Given the description of an element on the screen output the (x, y) to click on. 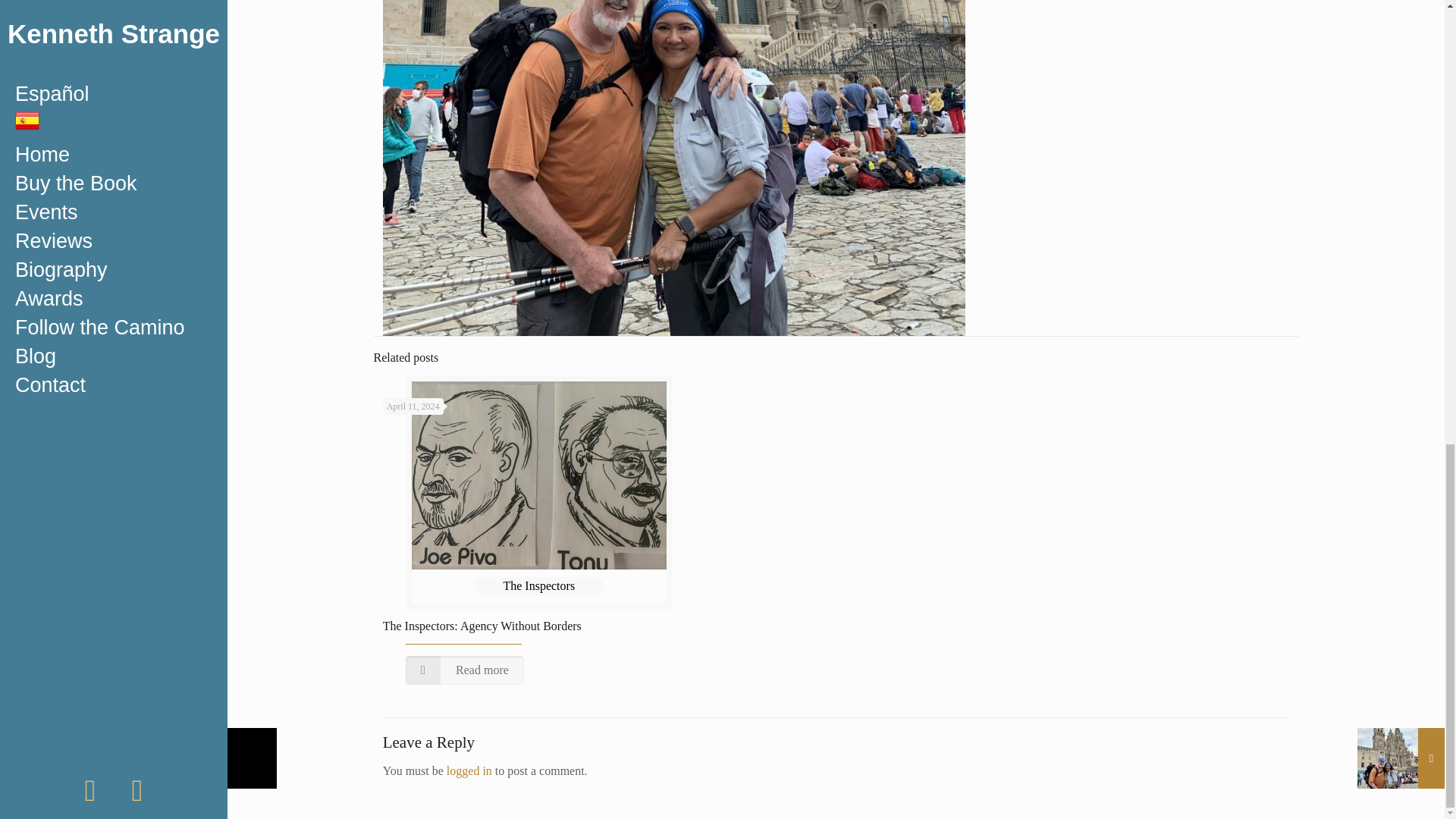
logged in (469, 770)
The Inspectors: Agency Without Borders (481, 625)
Read more (465, 670)
